Given the description of an element on the screen output the (x, y) to click on. 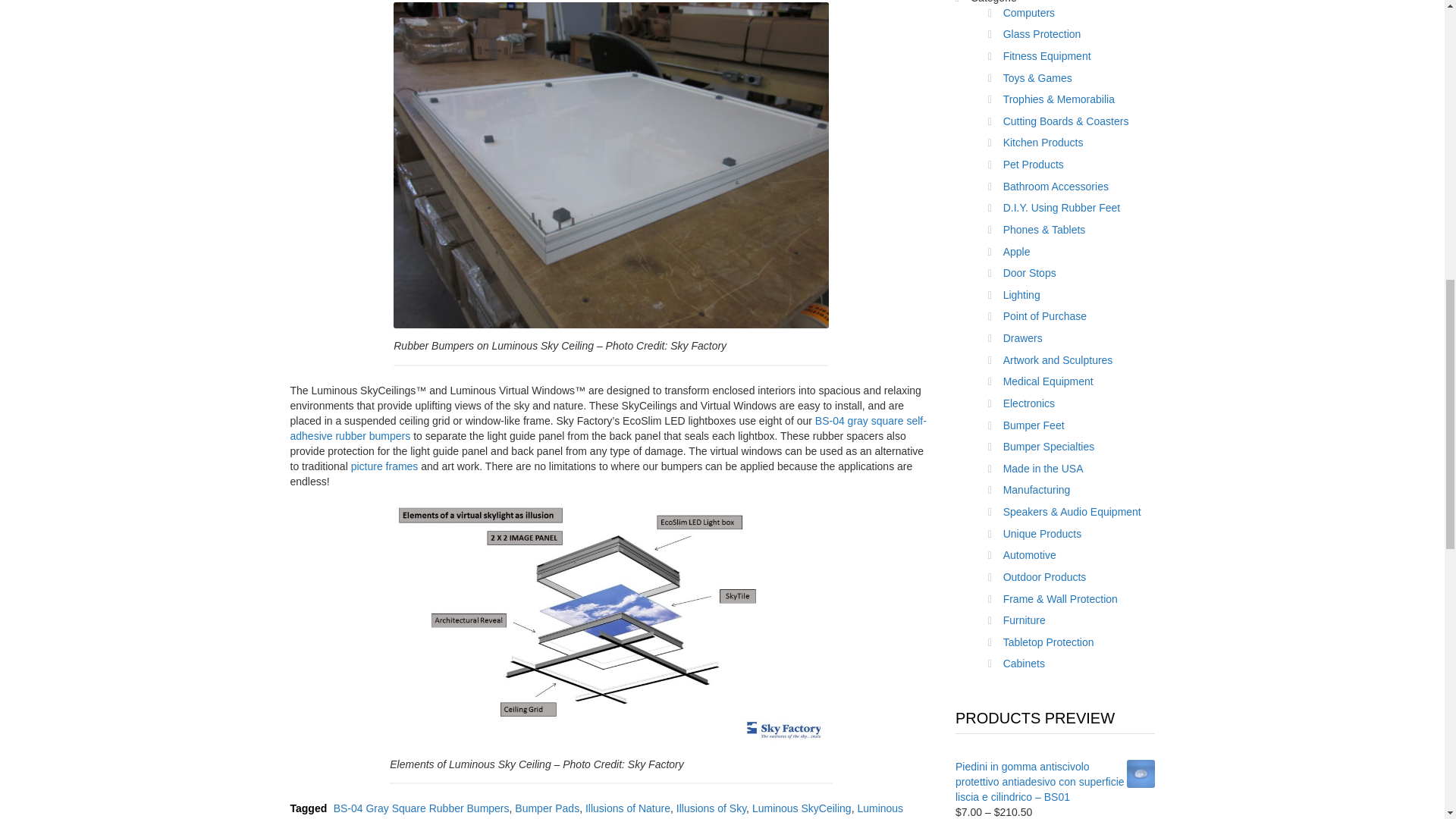
BS-04 gray square self-adhesive rubber bumpers (607, 428)
Bumper Pads (547, 808)
Illusions of Nature (627, 808)
picture frames (384, 466)
Elements of Luminous Sky Ceiling  (611, 621)
BS-04 Gray Square Rubber Bumpers (421, 808)
BS-04 gray square self-adhesive rubber bumpers (607, 428)
